Given the description of an element on the screen output the (x, y) to click on. 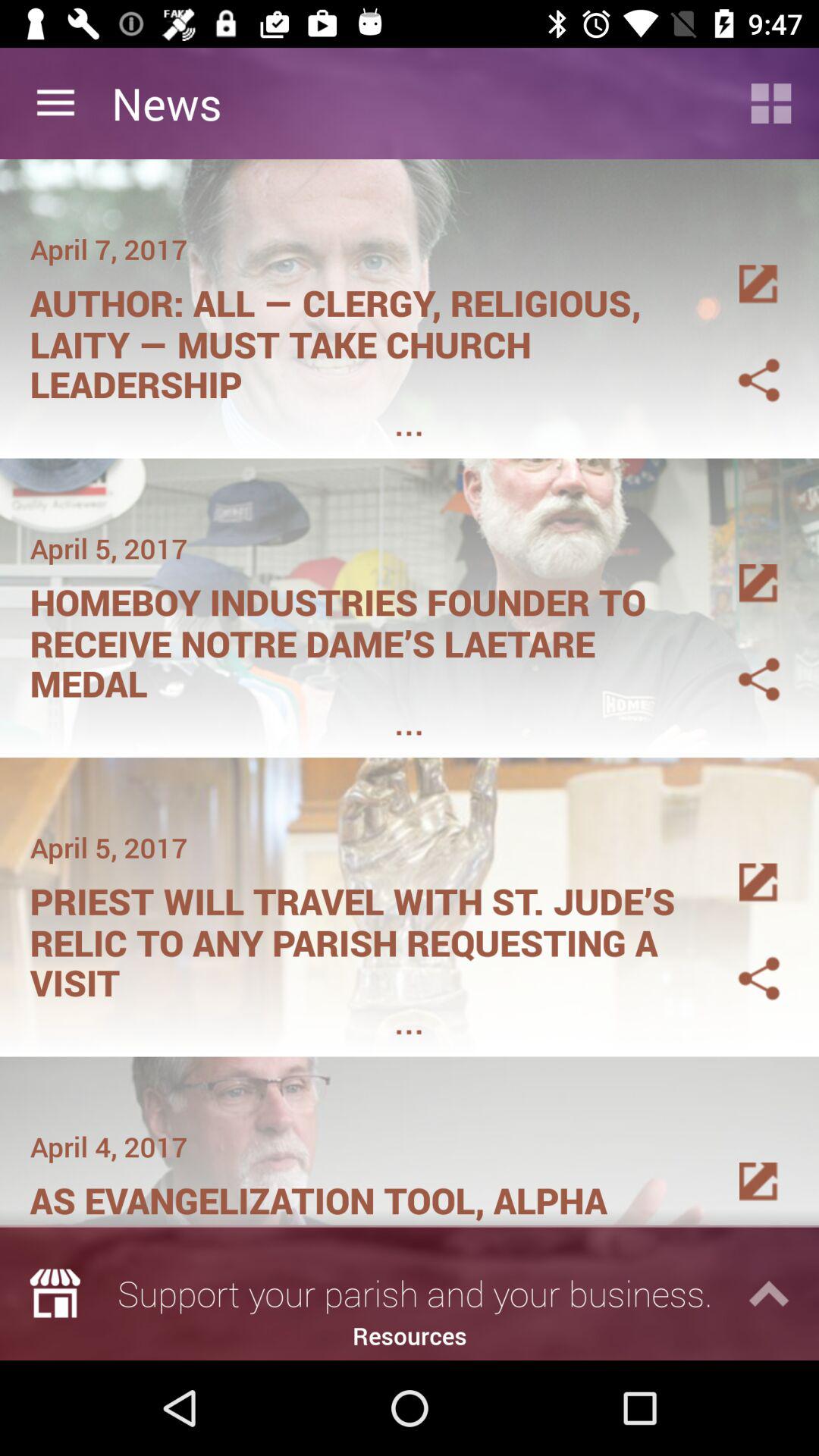
turn on item to the left of news icon (55, 103)
